Given the description of an element on the screen output the (x, y) to click on. 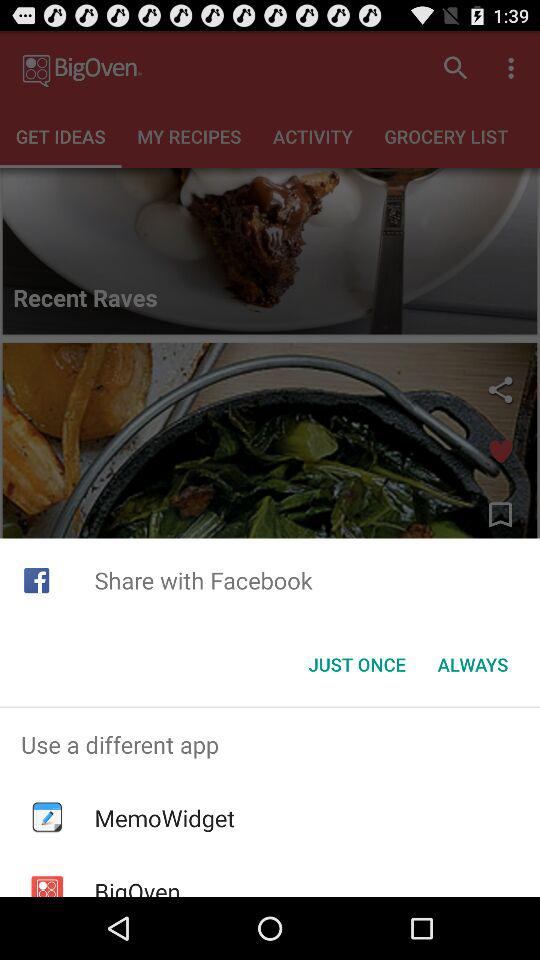
turn on the item below use a different app (164, 817)
